Given the description of an element on the screen output the (x, y) to click on. 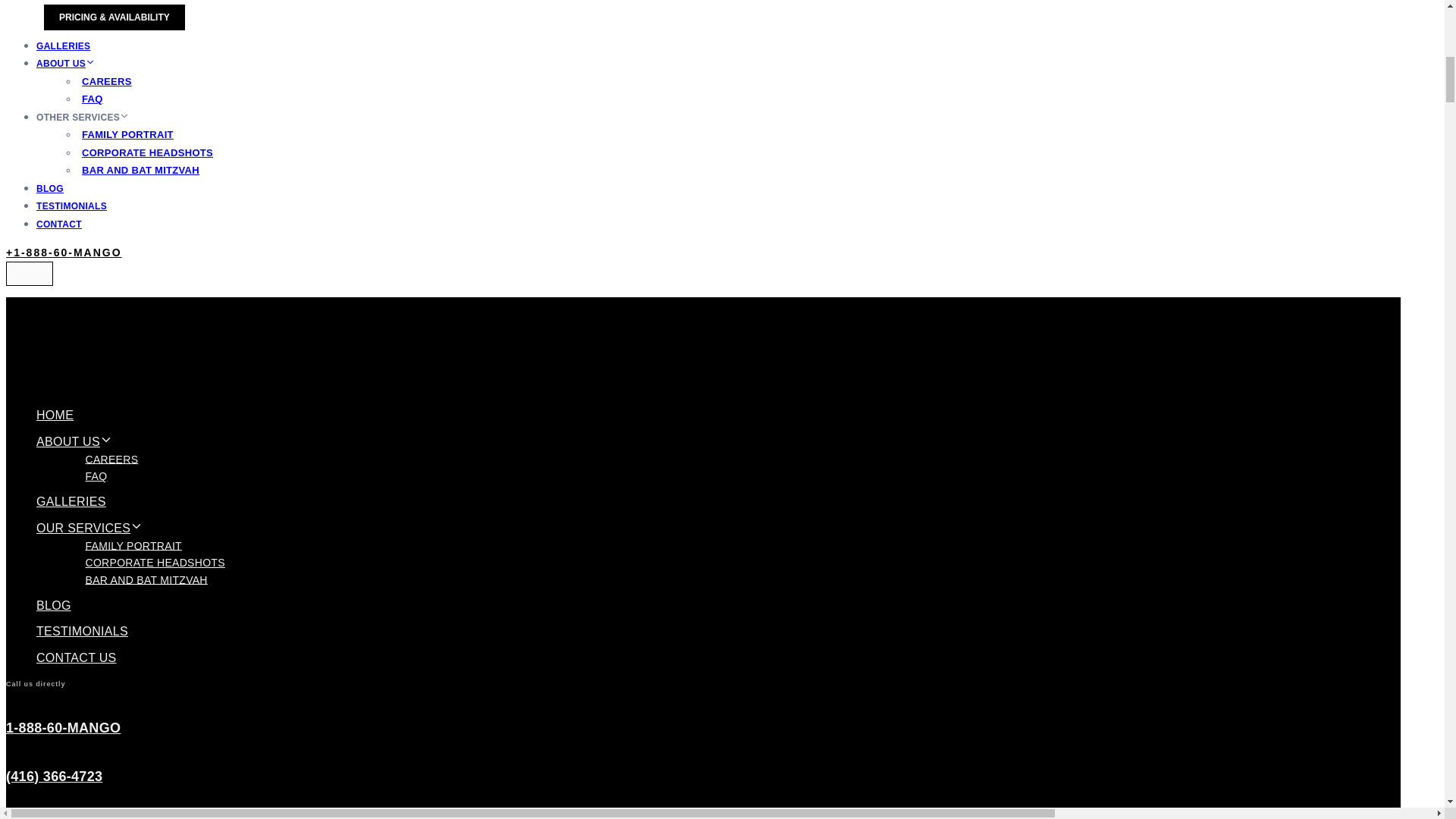
TESTIMONIALS (71, 205)
BAR AND BAT MITZVAH (140, 169)
OTHER SERVICES (84, 117)
ABOUT US (74, 440)
HOME (55, 414)
CORPORATE HEADSHOTS (147, 152)
FAMILY PORTRAIT (127, 134)
CAREERS (106, 81)
CAREERS (111, 458)
ABOUT US (67, 63)
